Given the description of an element on the screen output the (x, y) to click on. 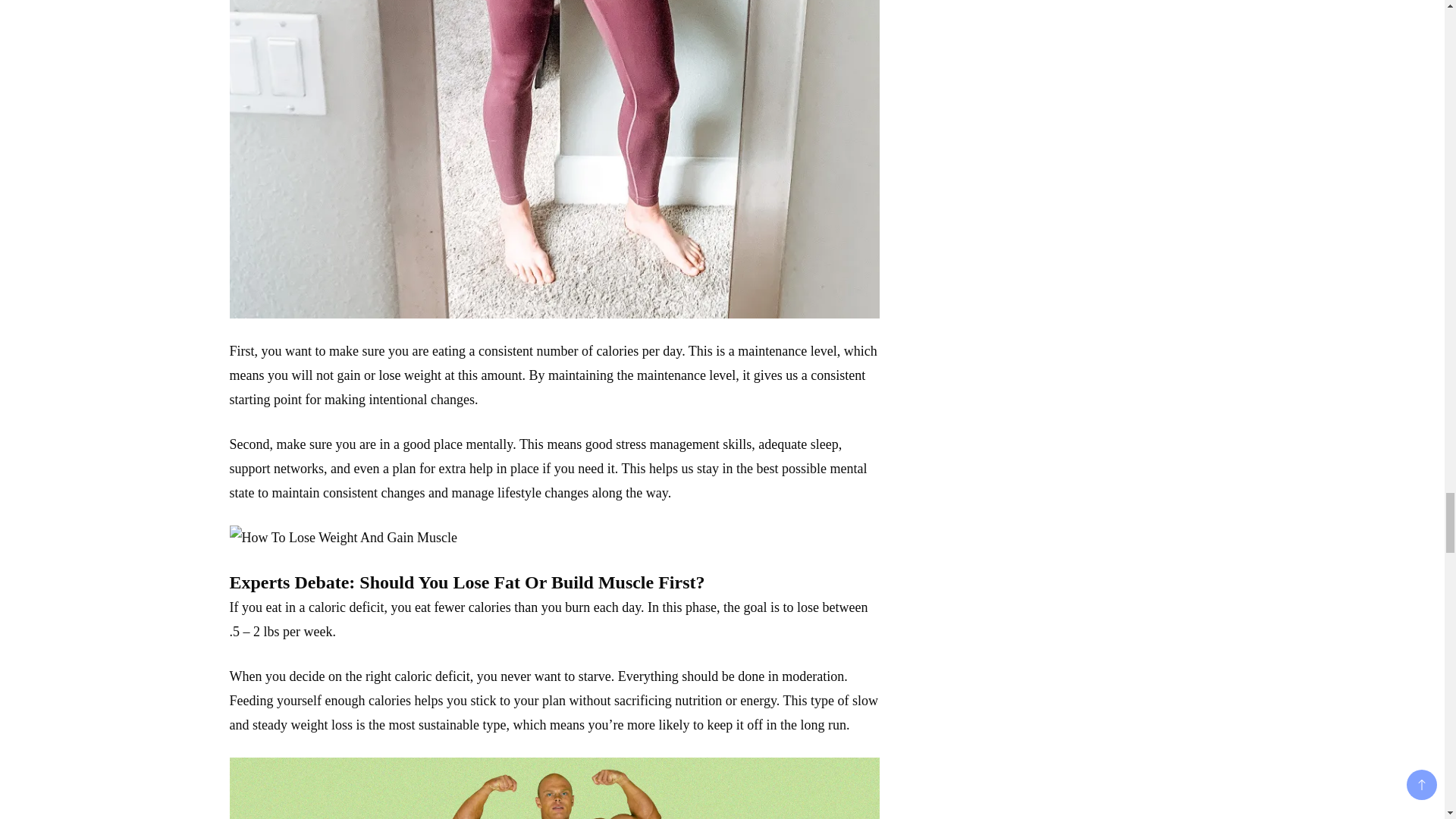
How To Lose Weight And Gain Muscle (553, 788)
How To Lose Weight And Gain Muscle (342, 537)
